Given the description of an element on the screen output the (x, y) to click on. 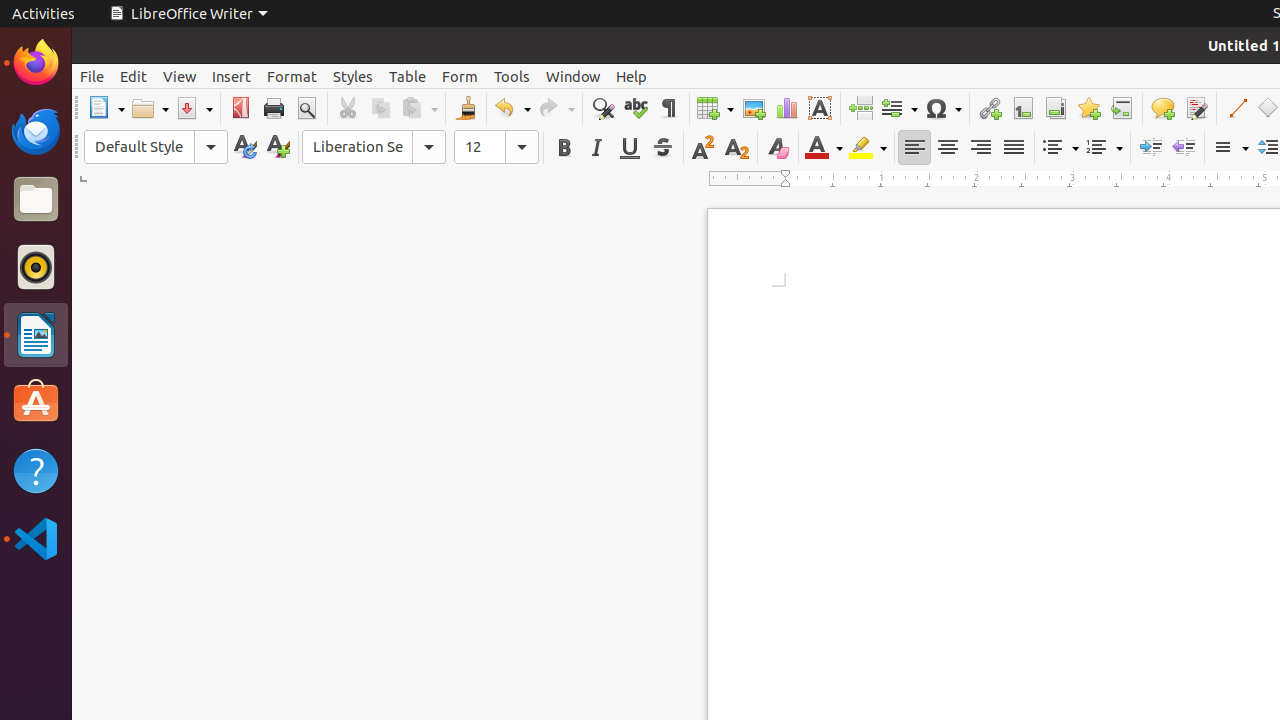
Copy Element type: push-button (380, 108)
Endnote Element type: push-button (1055, 108)
Print Element type: push-button (273, 108)
Files Element type: push-button (36, 199)
Formatting Marks Element type: toggle-button (668, 108)
